Given the description of an element on the screen output the (x, y) to click on. 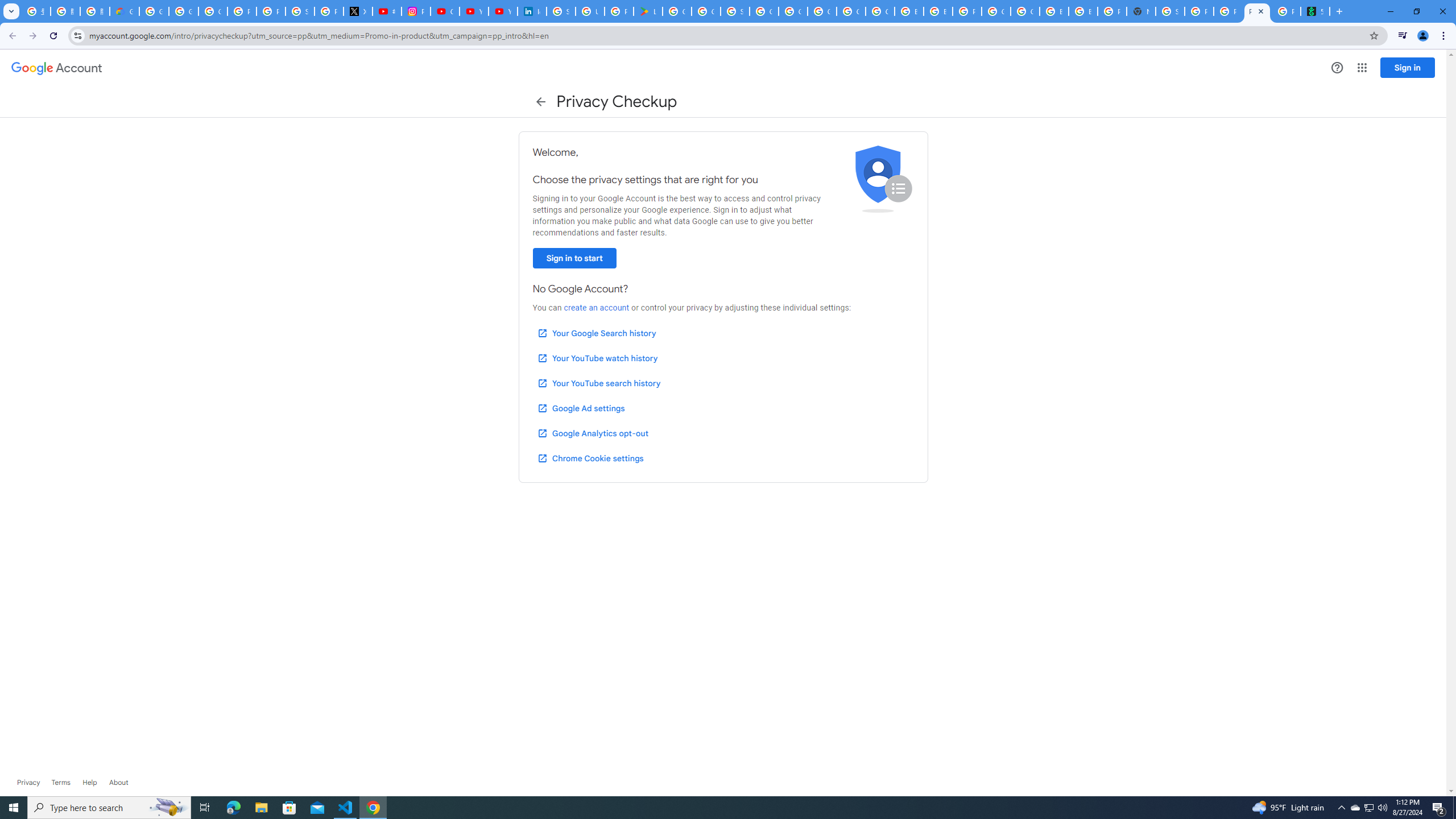
Help (1336, 67)
Help (89, 782)
Sign in - Google Accounts (734, 11)
#nbabasketballhighlights - YouTube (386, 11)
Sign in - Google Accounts (300, 11)
Google Ad settings (580, 408)
Terms (61, 782)
Sign in - Google Accounts (560, 11)
